Given the description of an element on the screen output the (x, y) to click on. 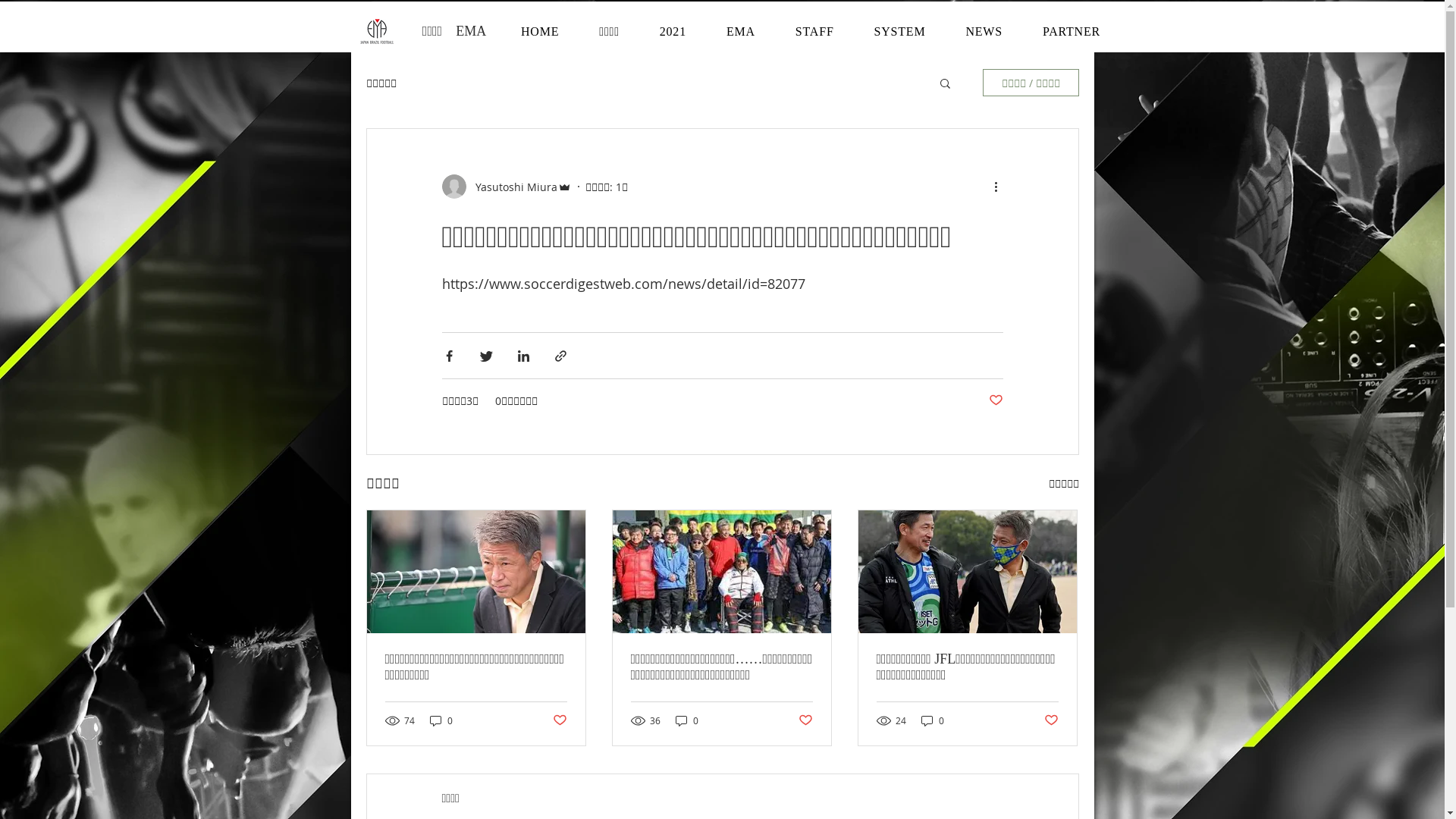
SYSTEM Element type: text (899, 31)
EMA Element type: text (740, 31)
0 Element type: text (440, 719)
0 Element type: text (931, 719)
STAFF Element type: text (814, 31)
2021 Element type: text (672, 31)
PARTNER Element type: text (1071, 31)
0 Element type: text (686, 719)
HOME Element type: text (539, 31)
NEWS Element type: text (983, 31)
